Given the description of an element on the screen output the (x, y) to click on. 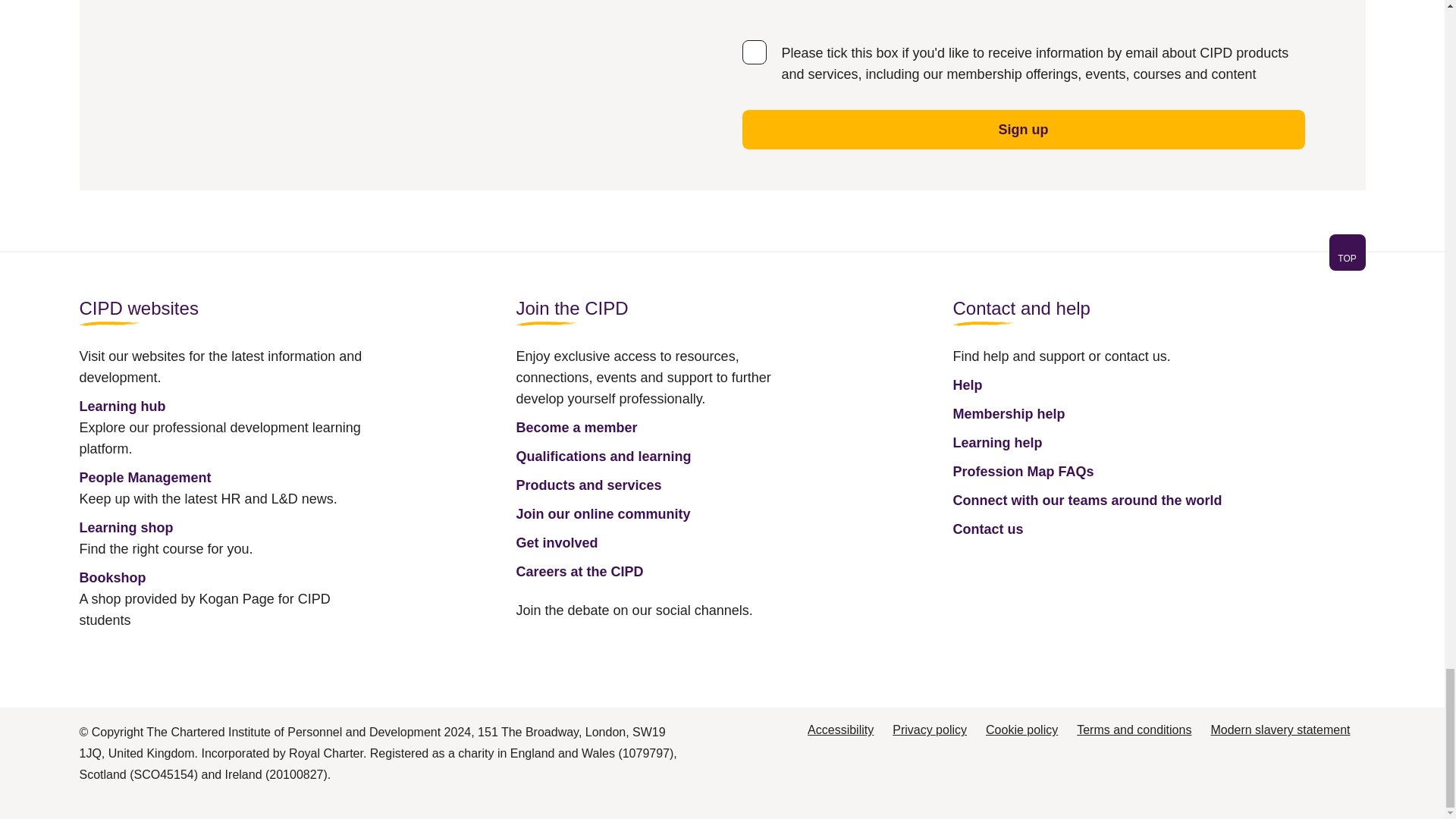
Consented (753, 52)
TOP (1346, 252)
TOP (1346, 258)
TOP (721, 261)
